Given the description of an element on the screen output the (x, y) to click on. 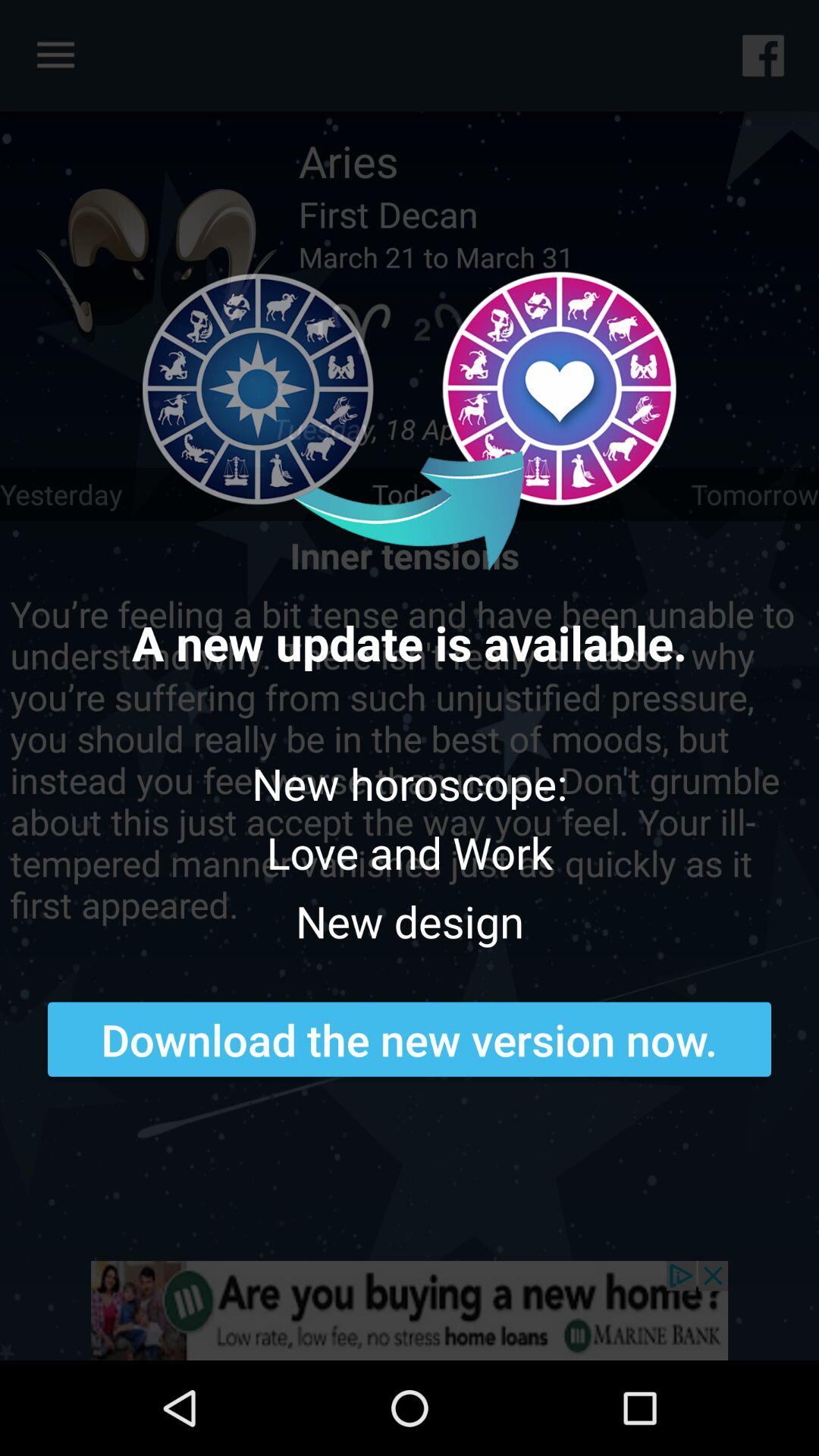
scroll until download the new icon (409, 1039)
